Given the description of an element on the screen output the (x, y) to click on. 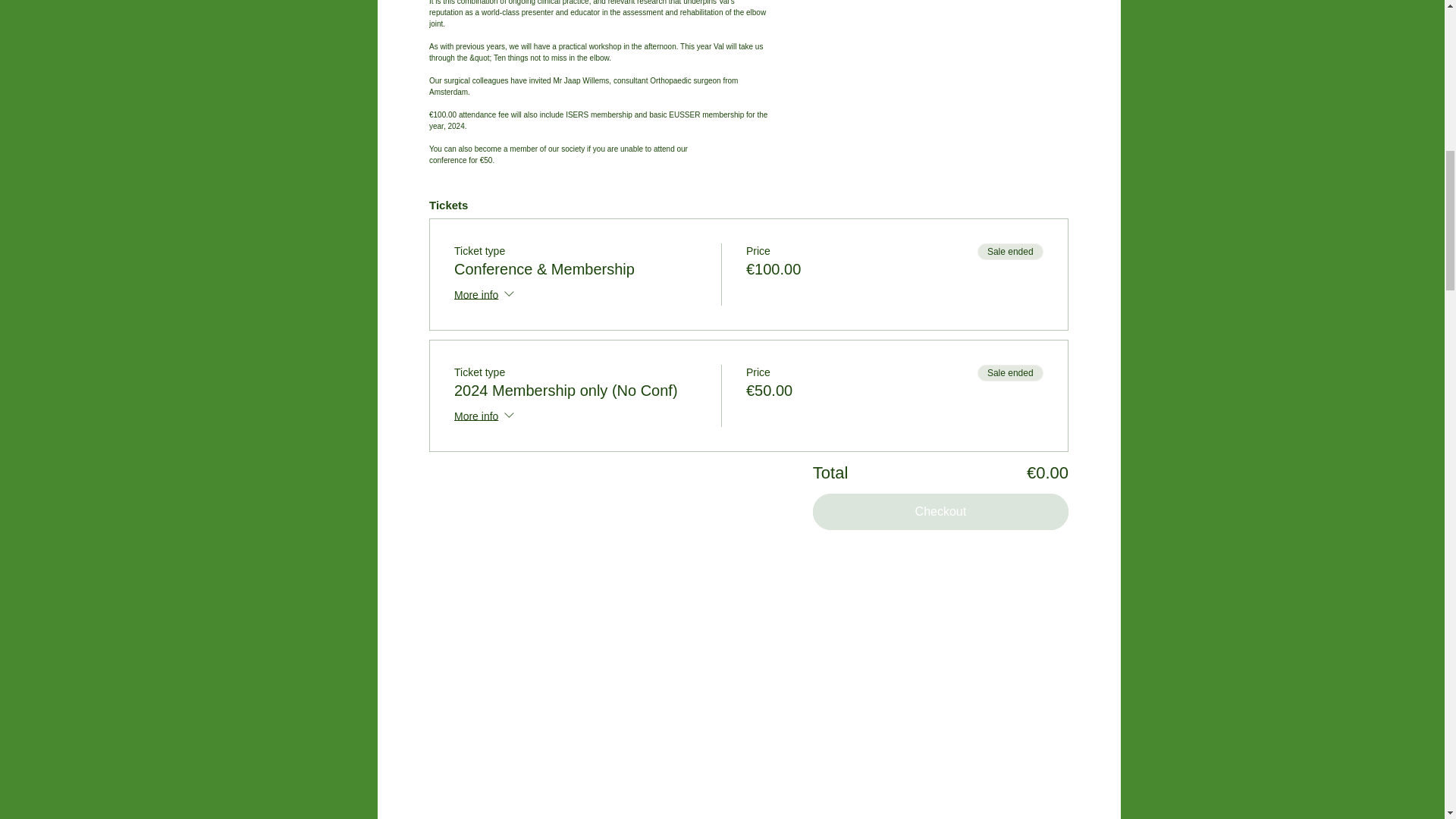
More info (485, 416)
More info (485, 295)
Checkout (940, 511)
